Given the description of an element on the screen output the (x, y) to click on. 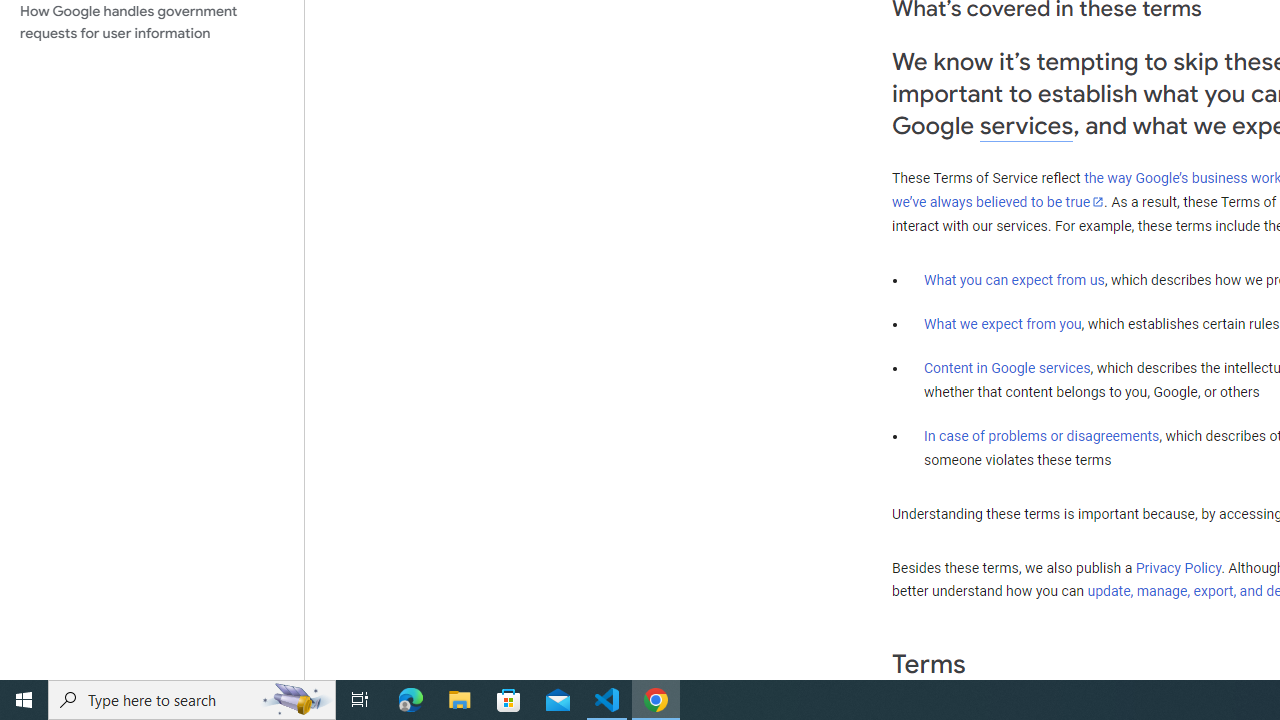
Content in Google services (1007, 368)
What you can expect from us (1014, 279)
In case of problems or disagreements (1041, 435)
What we expect from you (1002, 323)
services (1026, 125)
